Given the description of an element on the screen output the (x, y) to click on. 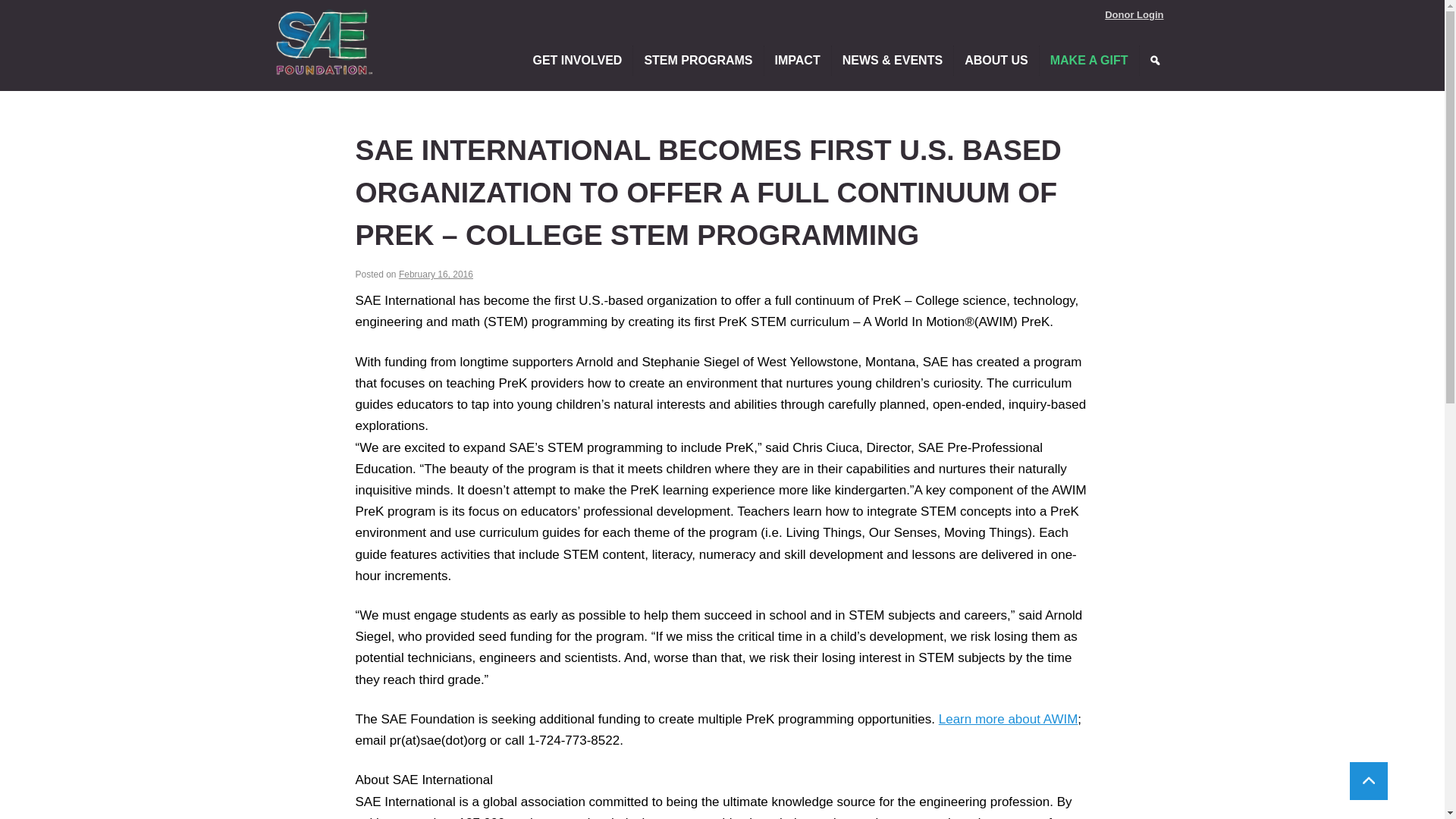
Search This Website (1153, 60)
STEM PROGRAMS (697, 60)
GET INVOLVED (577, 60)
2:03 pm (435, 274)
Search (1153, 60)
Return to the top of this page. (1368, 781)
MAKE A GIFT (1089, 60)
Donor Login (1134, 14)
IMPACT (797, 60)
Go to SAE Foundation Home Page (323, 41)
